Given the description of an element on the screen output the (x, y) to click on. 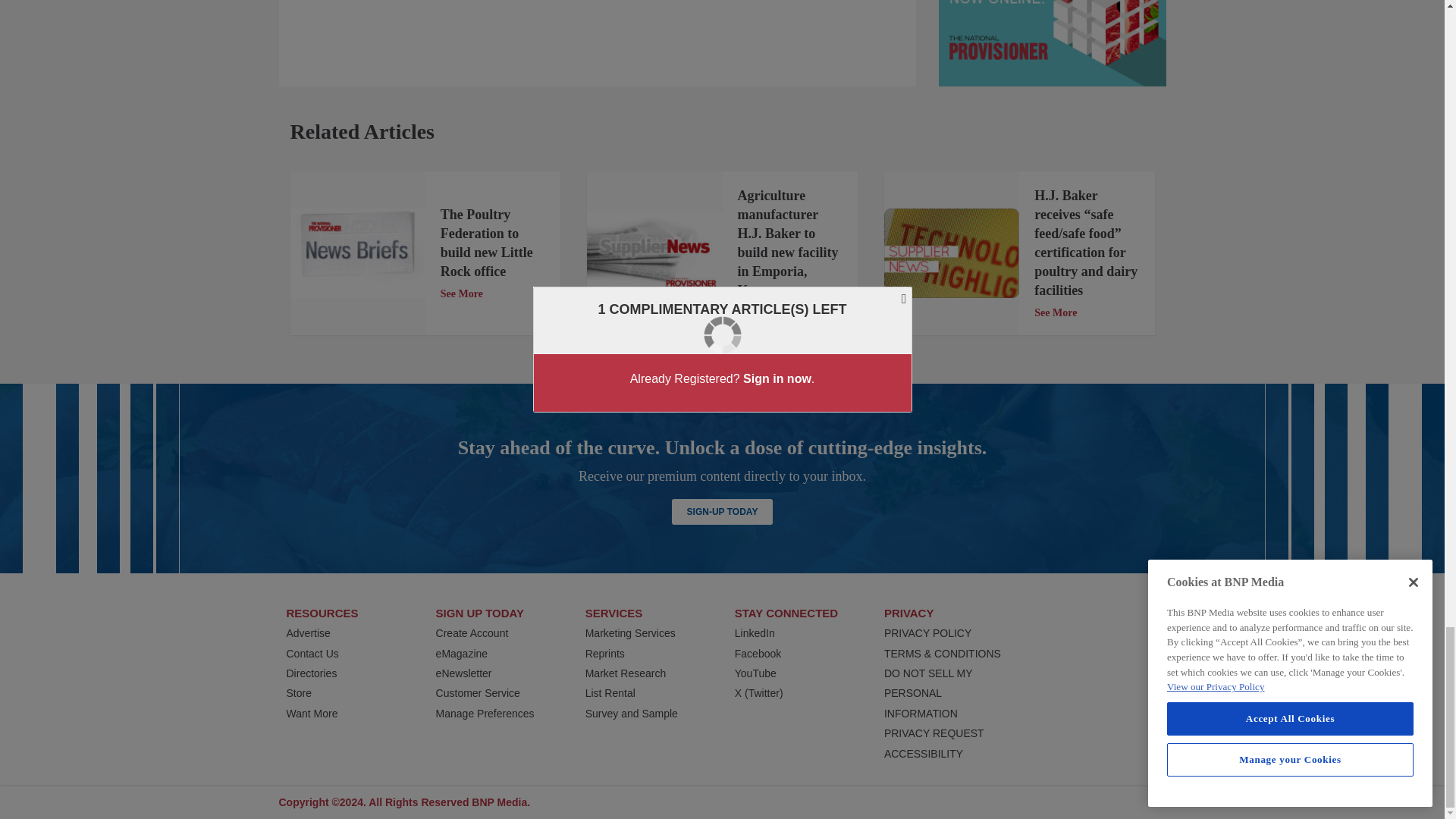
Supplier News Logo Feature (951, 253)
Supplier News (654, 253)
News Brief Feature (357, 253)
